Given the description of an element on the screen output the (x, y) to click on. 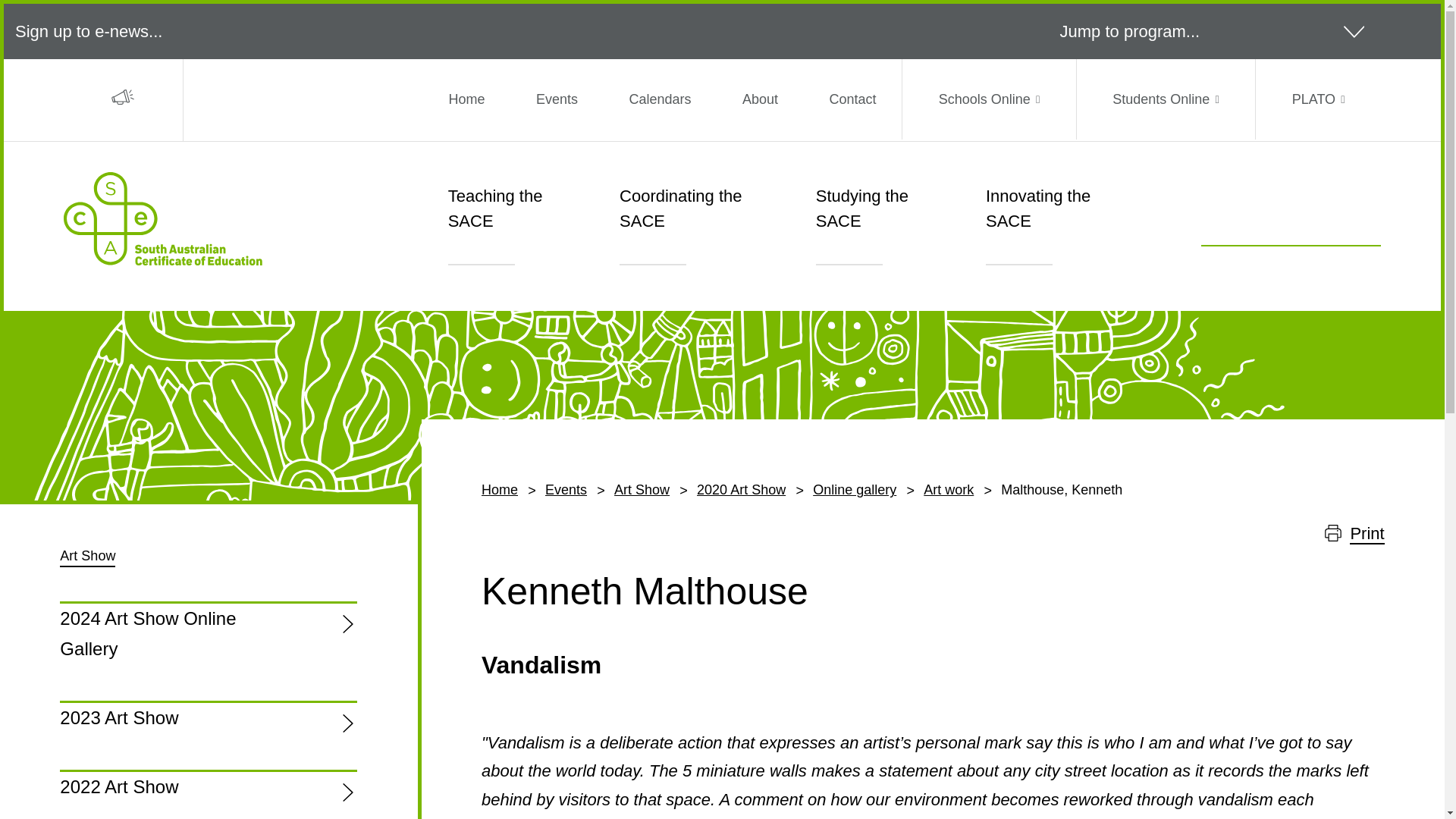
print (123, 99)
alert (1332, 532)
